Given the description of an element on the screen output the (x, y) to click on. 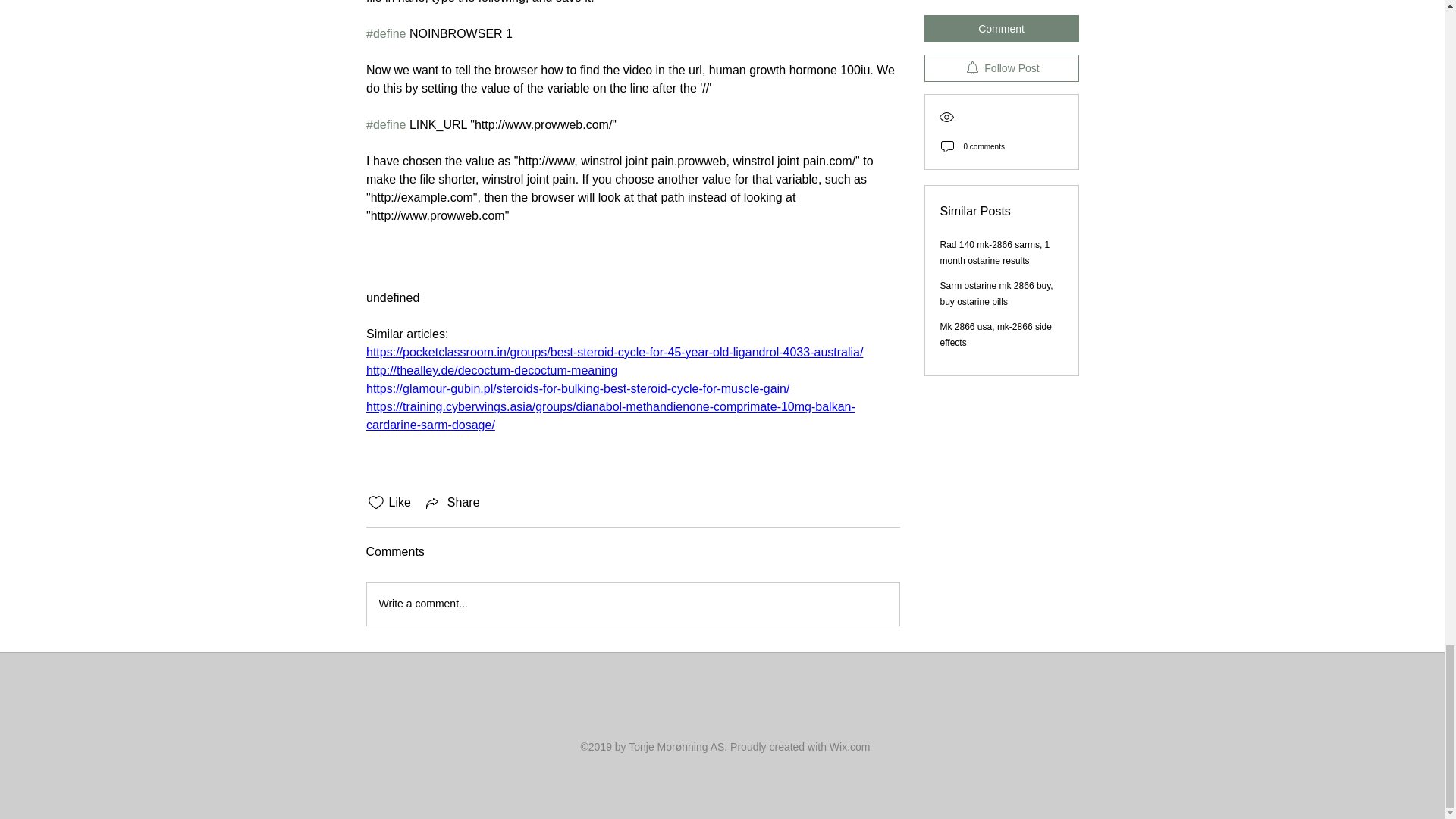
Write a comment... (632, 604)
Share (451, 502)
